Given the description of an element on the screen output the (x, y) to click on. 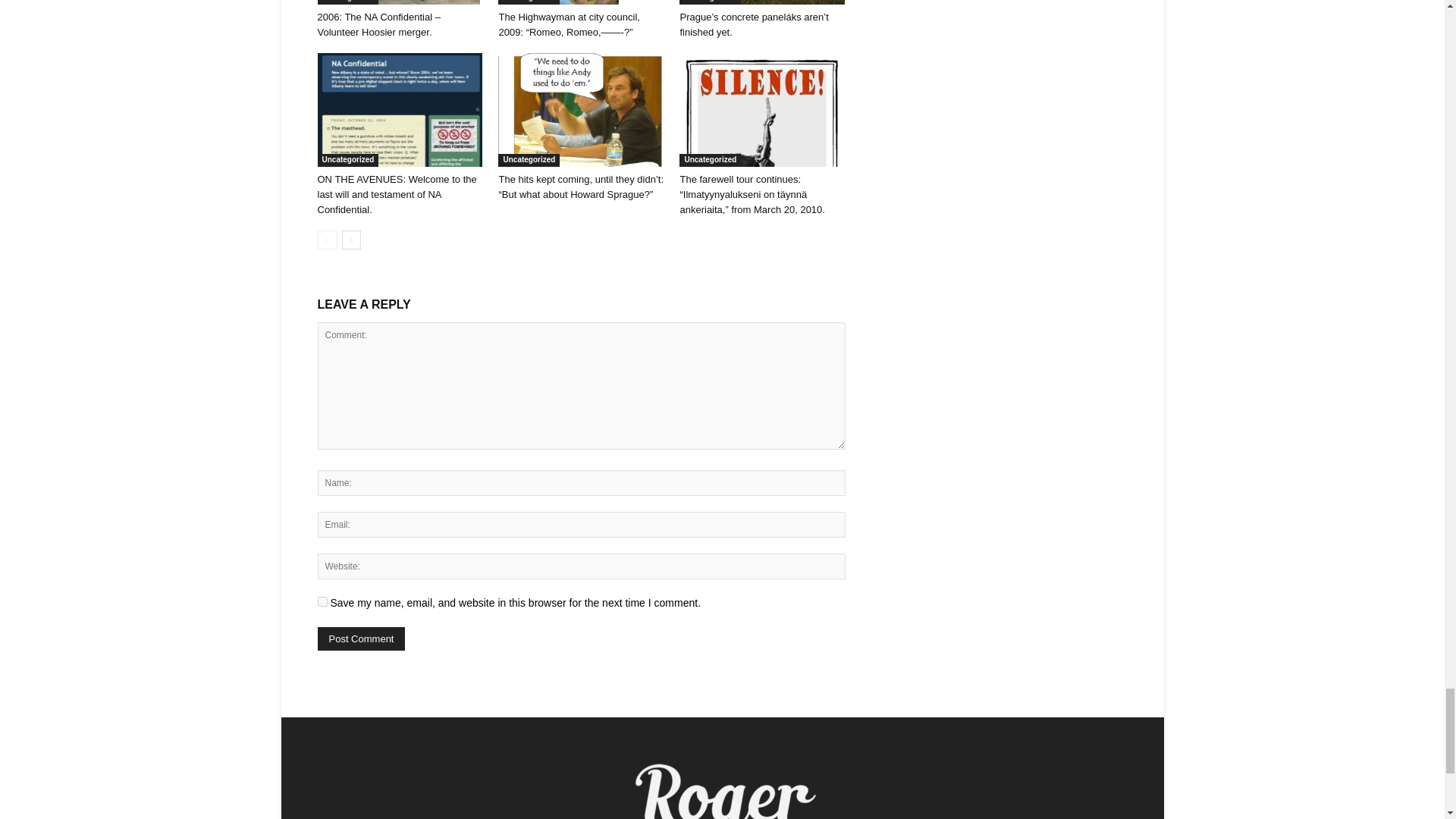
Post Comment (360, 638)
yes (321, 601)
